Given the description of an element on the screen output the (x, y) to click on. 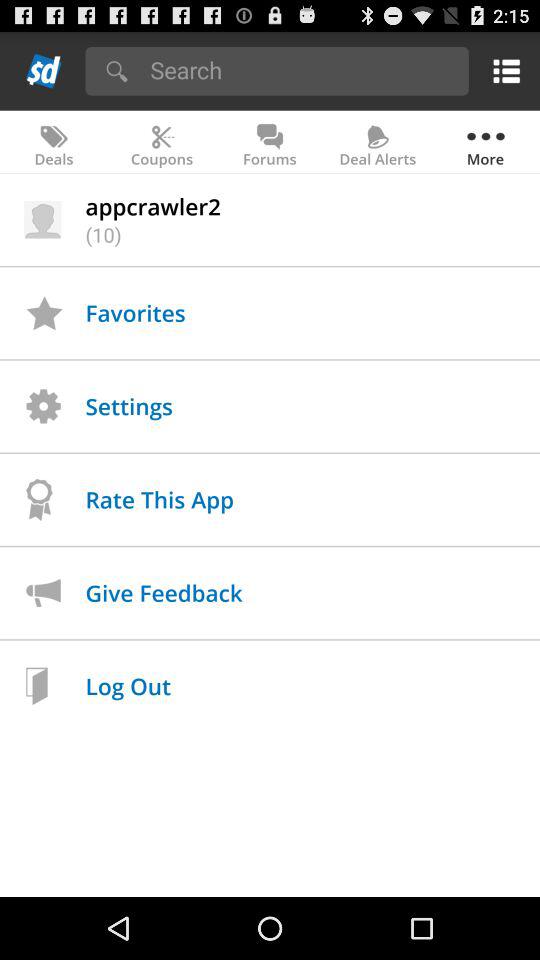
choose app above coupons icon (302, 69)
